Given the description of an element on the screen output the (x, y) to click on. 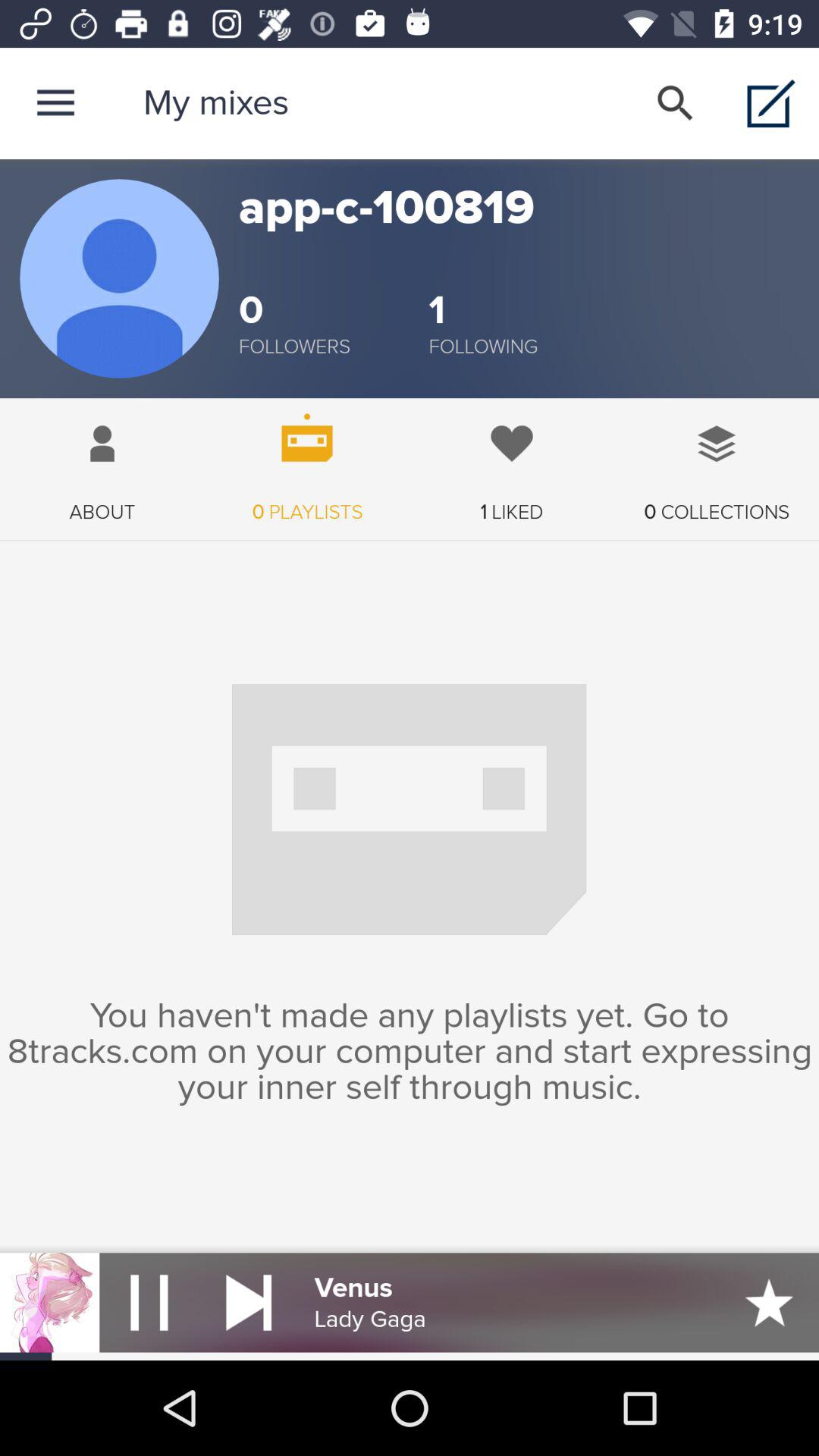
turn on following item (483, 346)
